Given the description of an element on the screen output the (x, y) to click on. 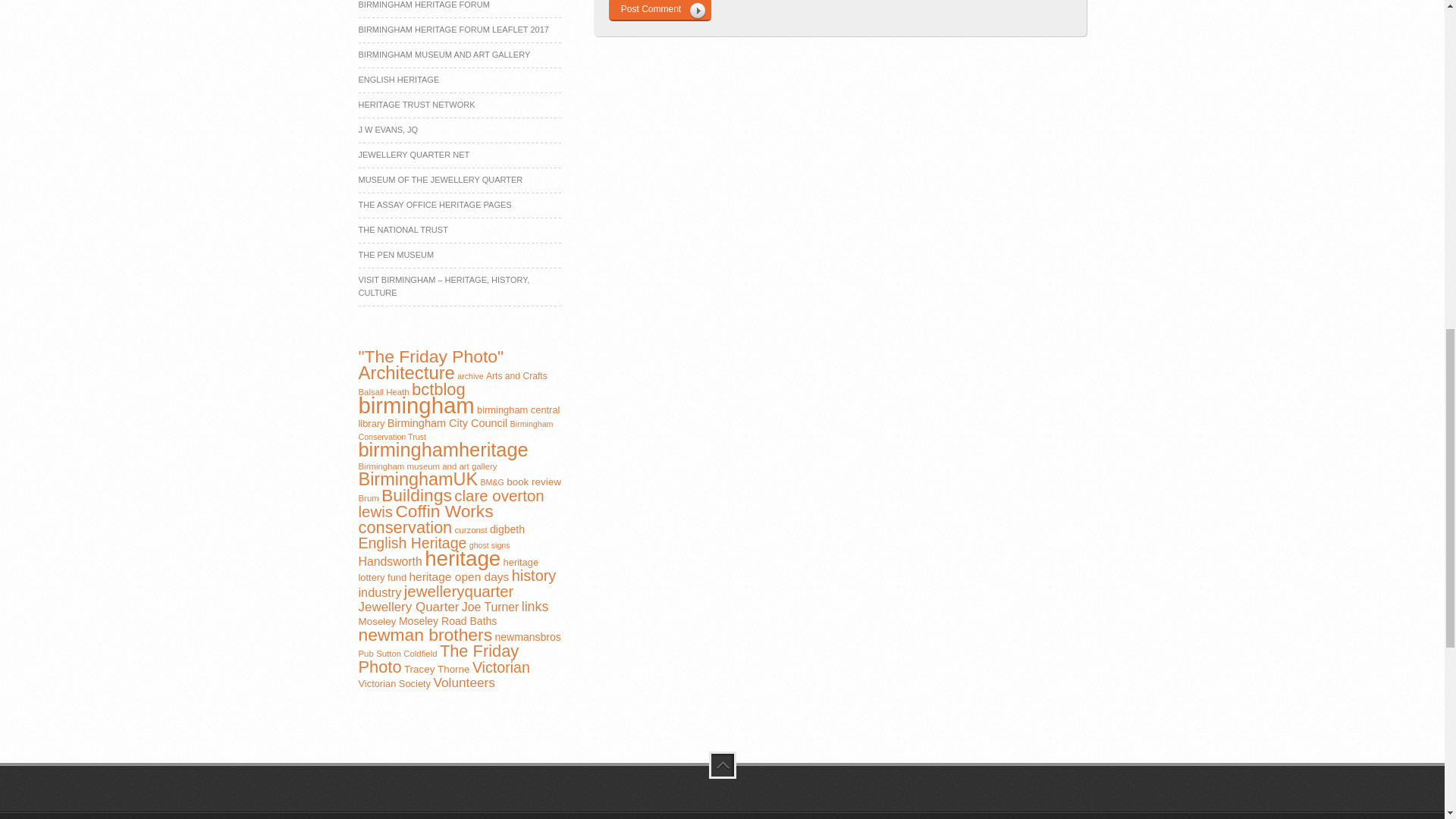
Go to Top! (721, 764)
Post Comment (659, 10)
Birmingham Heritage Forum leaflet 2017 (453, 29)
